Given the description of an element on the screen output the (x, y) to click on. 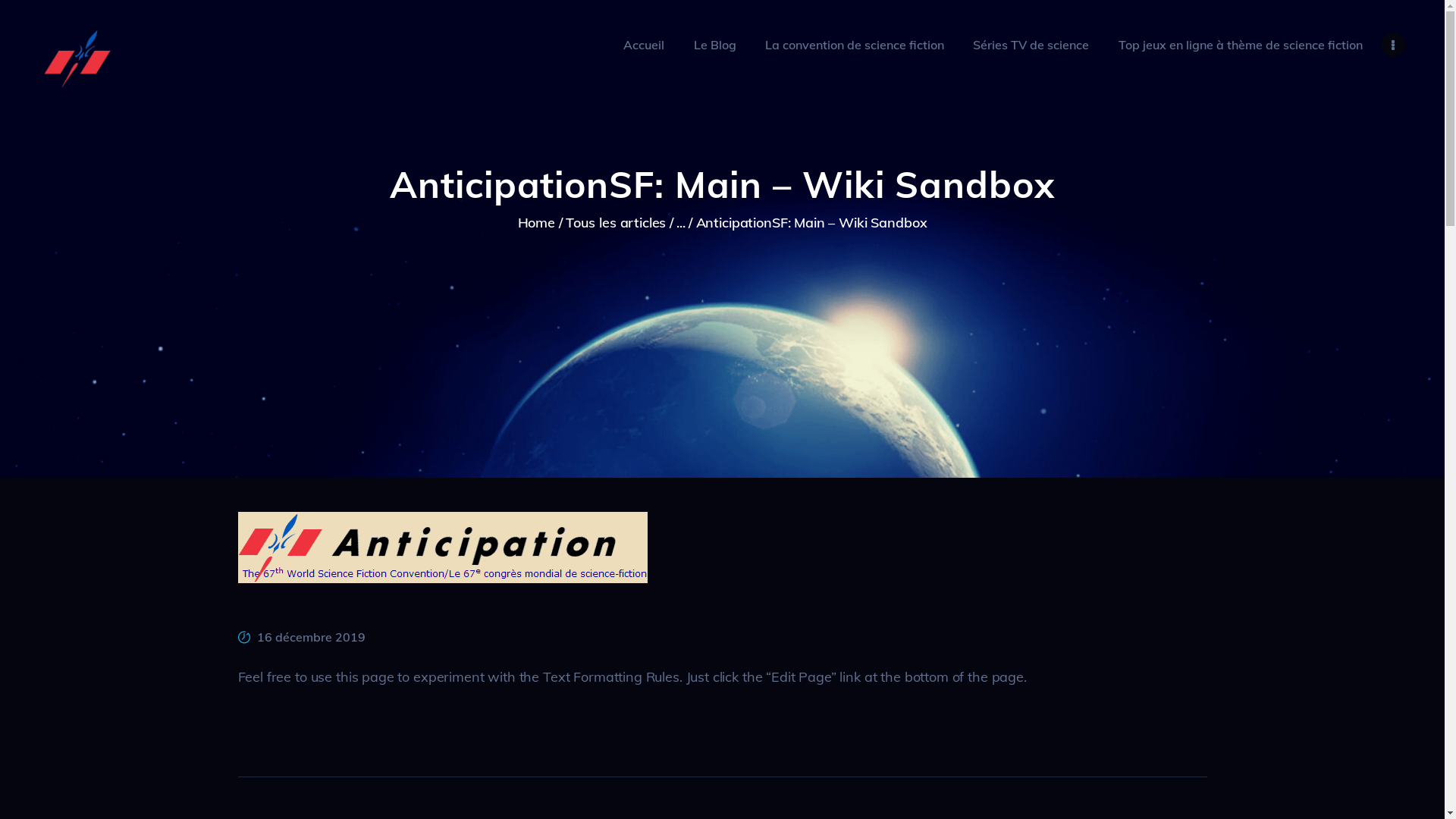
Tous les articles Element type: text (615, 222)
Home Element type: text (536, 222)
Le Blog Element type: text (713, 44)
La convention de science fiction Element type: text (854, 44)
Accueil Element type: text (643, 44)
